Given the description of an element on the screen output the (x, y) to click on. 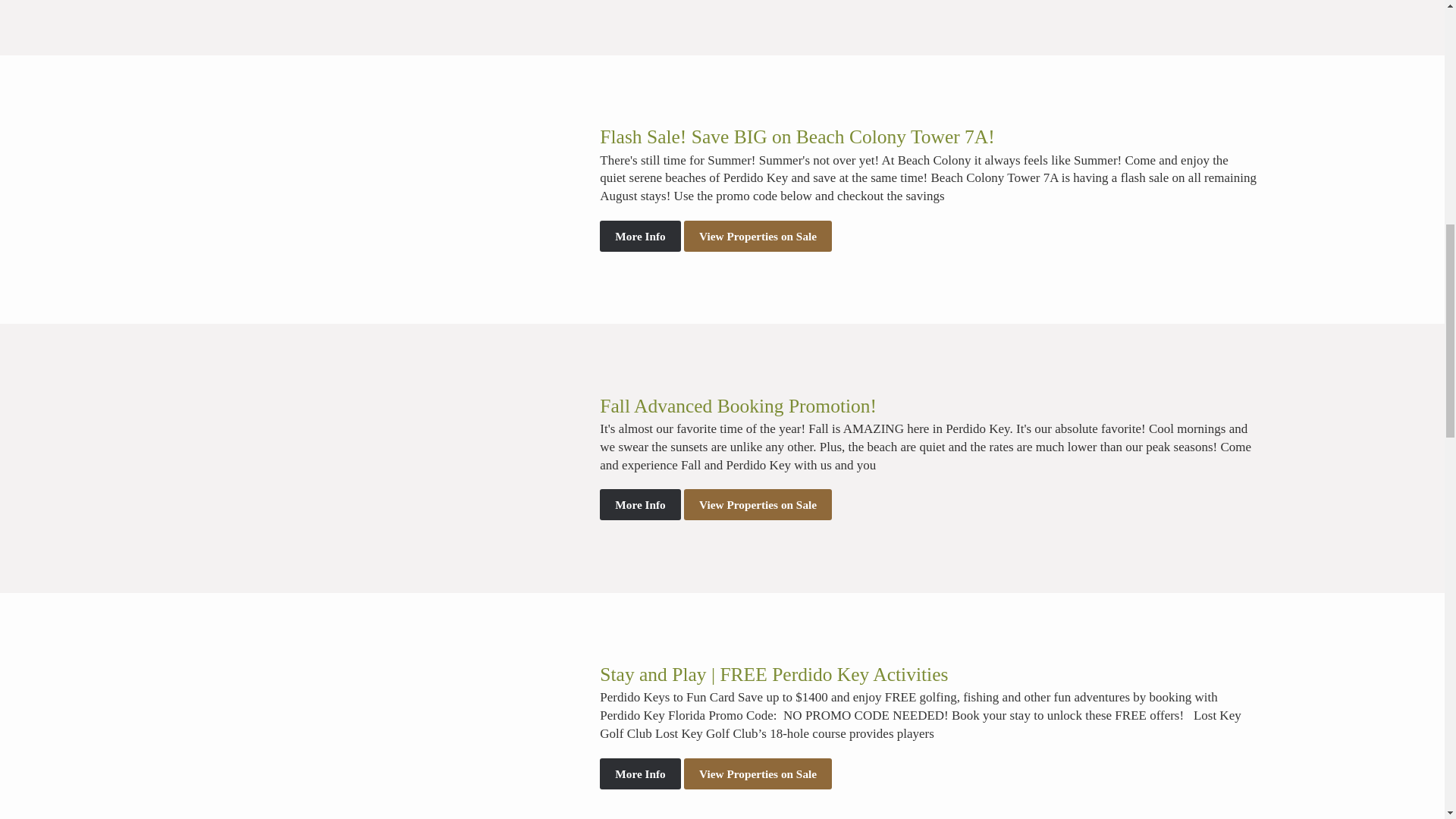
Flash Sale! Save BIG on Beach Colony Tower 7A! (796, 137)
View Properties on Sale (757, 773)
View Properties on Sale (757, 504)
More Info (639, 773)
View Properties on Sale (757, 235)
More Info (639, 235)
More Info (639, 504)
Fall Advanced Booking Promotion! (737, 405)
